Given the description of an element on the screen output the (x, y) to click on. 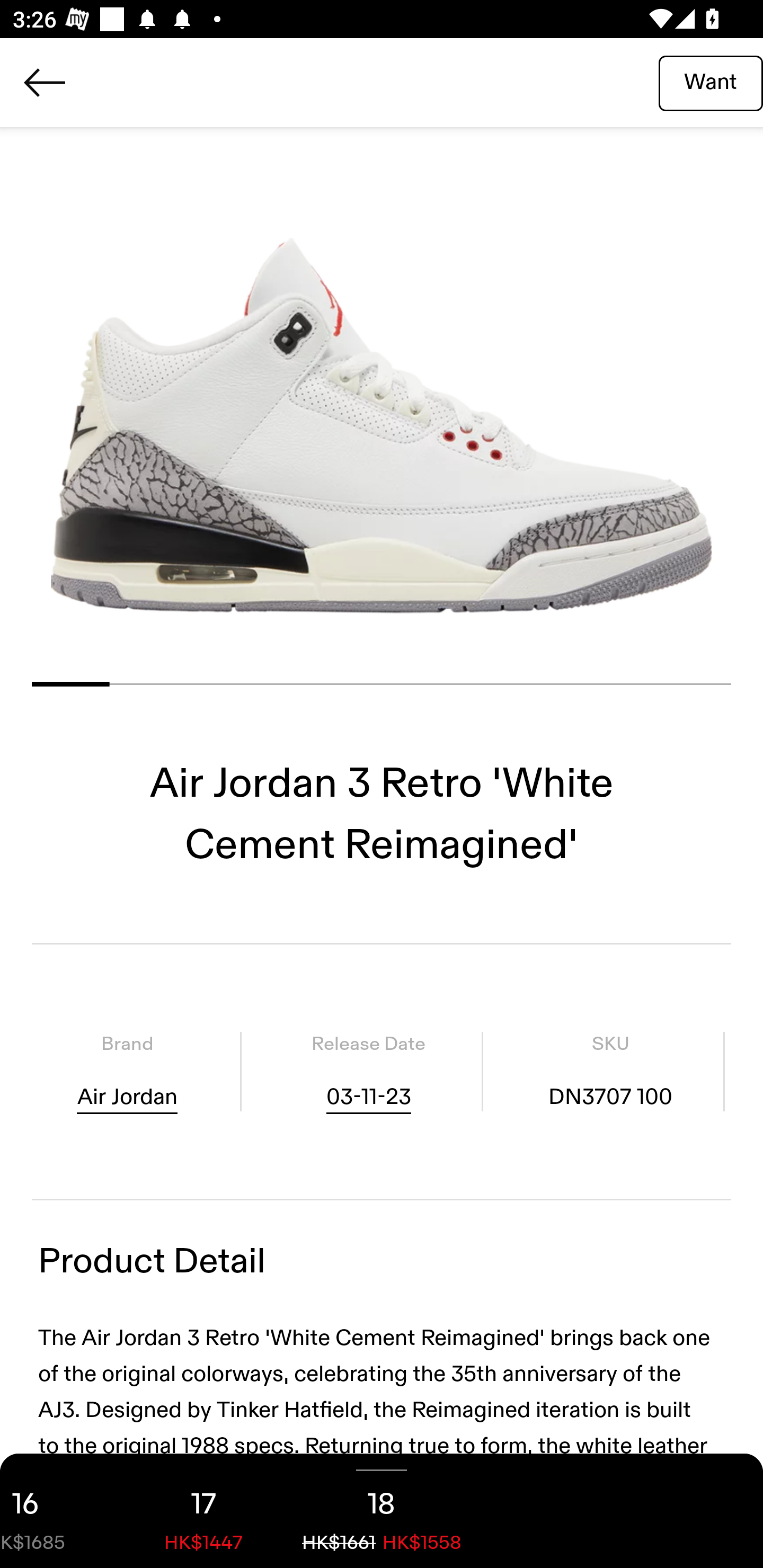
Want (710, 82)
Brand Air Jordan (126, 1070)
Release Date 03-11-23 (368, 1070)
SKU DN3707 100 (609, 1070)
16 HK$1685 (57, 1510)
17 HK$1447 (203, 1510)
18 HK$1661 HK$1558 (381, 1510)
